Given the description of an element on the screen output the (x, y) to click on. 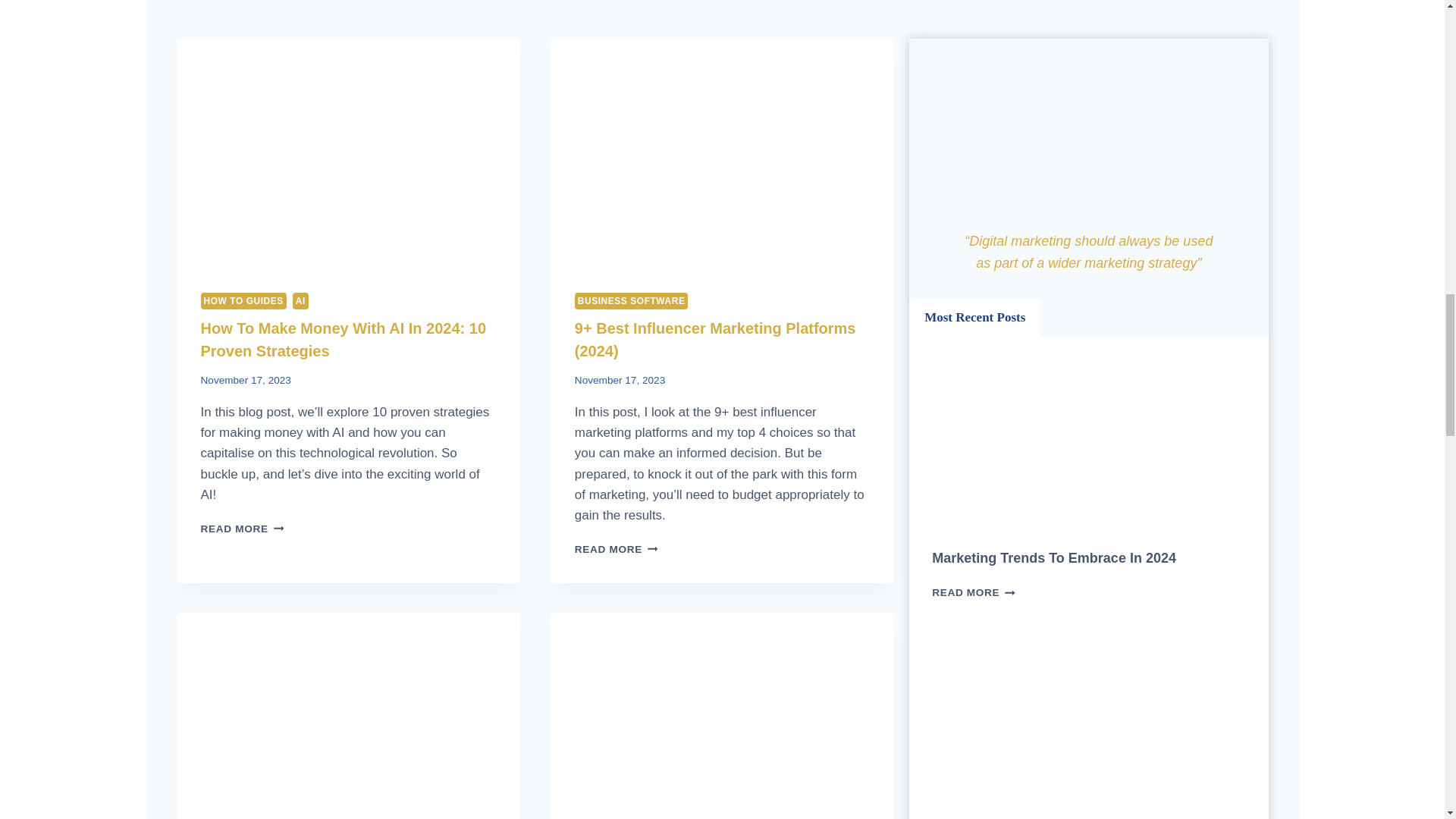
How To Make Money With AI In 2024: 10 Proven Strategies (343, 339)
HOW TO GUIDES (242, 300)
AI (300, 300)
